Given the description of an element on the screen output the (x, y) to click on. 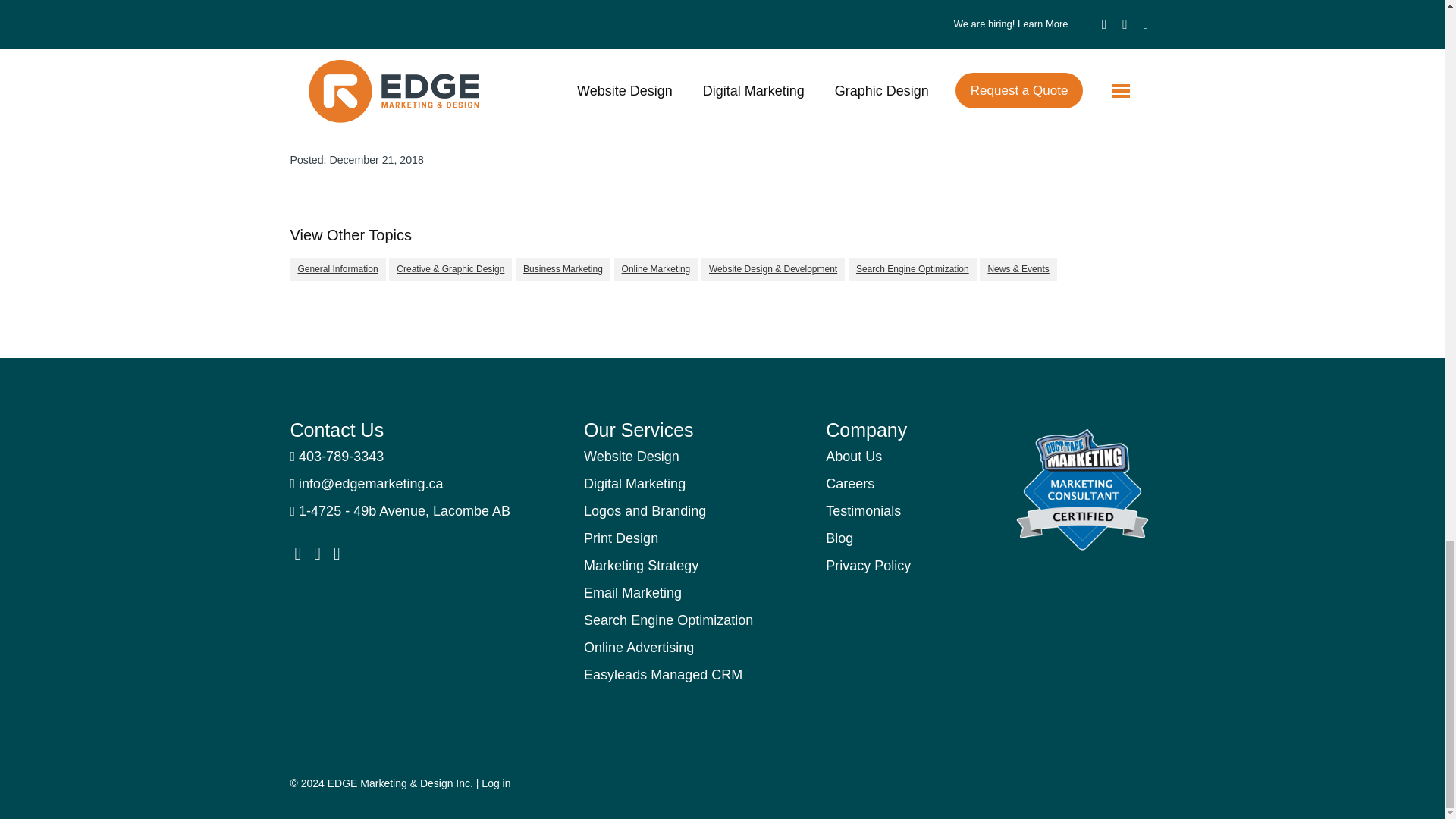
General Information (337, 268)
Business Marketing (562, 268)
Duct Tape Marketing Resources (1082, 489)
Search Engine Optimization (912, 268)
Online Marketing (656, 268)
